Given the description of an element on the screen output the (x, y) to click on. 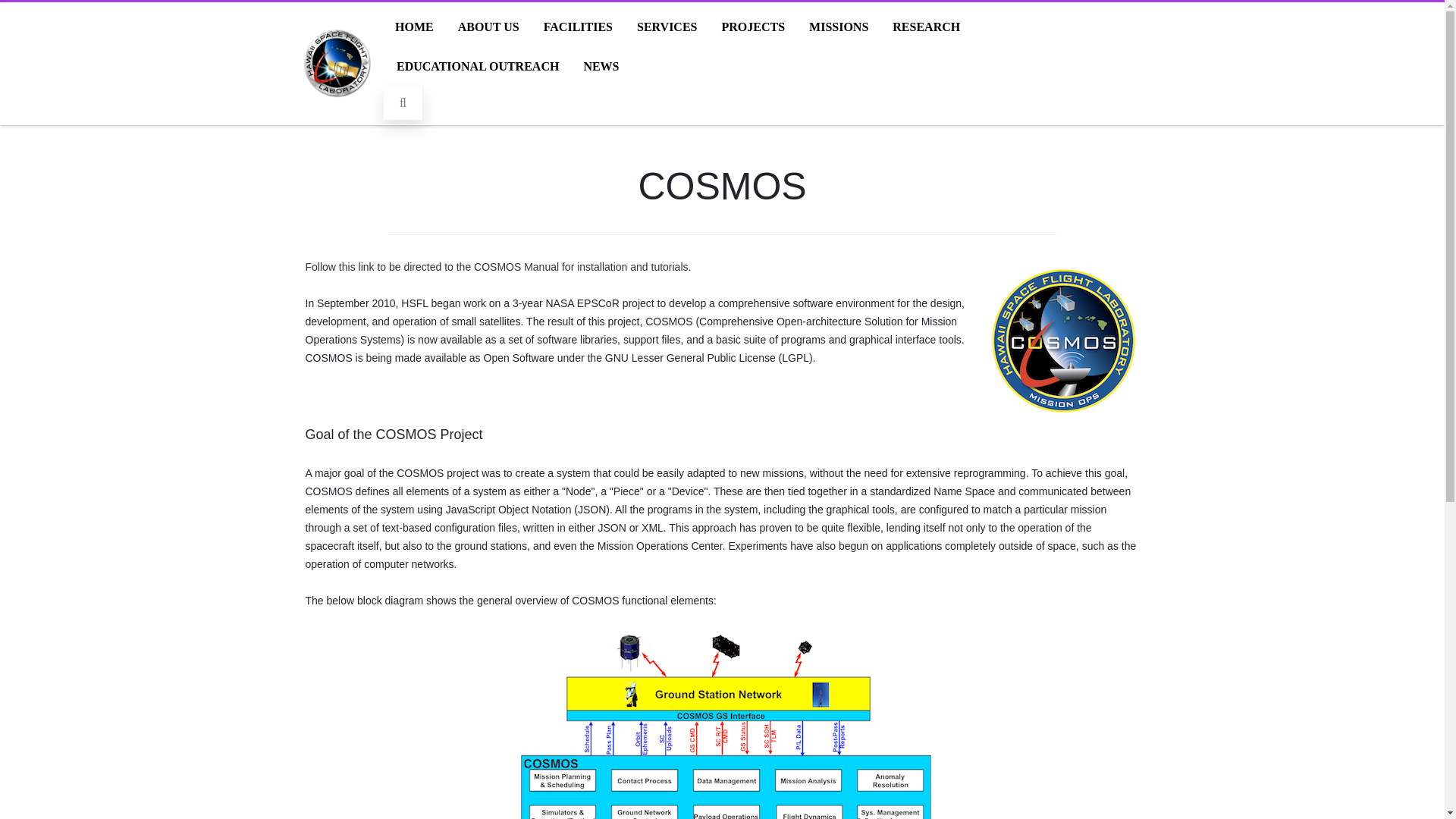
SERVICES (666, 26)
HSFL (336, 111)
FACILITIES (578, 26)
PROJECTS (753, 26)
RESEARCH (925, 26)
HOME (414, 26)
ABOUT US (488, 26)
EDUCATIONAL OUTREACH (477, 66)
NEWS (601, 66)
COSMOS Project: Click to View Project Website (1062, 340)
